Given the description of an element on the screen output the (x, y) to click on. 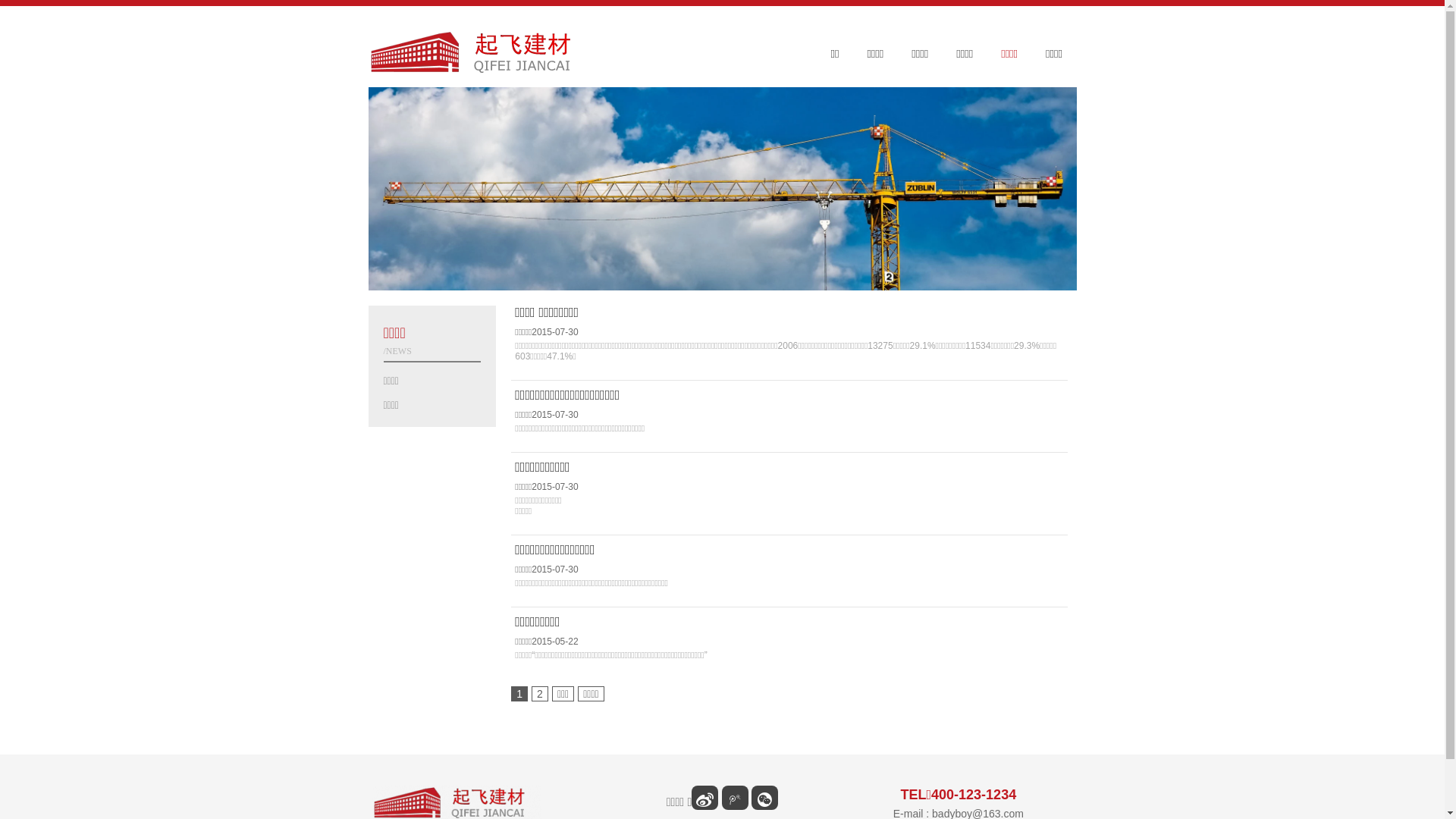
1 Element type: text (519, 693)
2 Element type: text (539, 693)
